Given the description of an element on the screen output the (x, y) to click on. 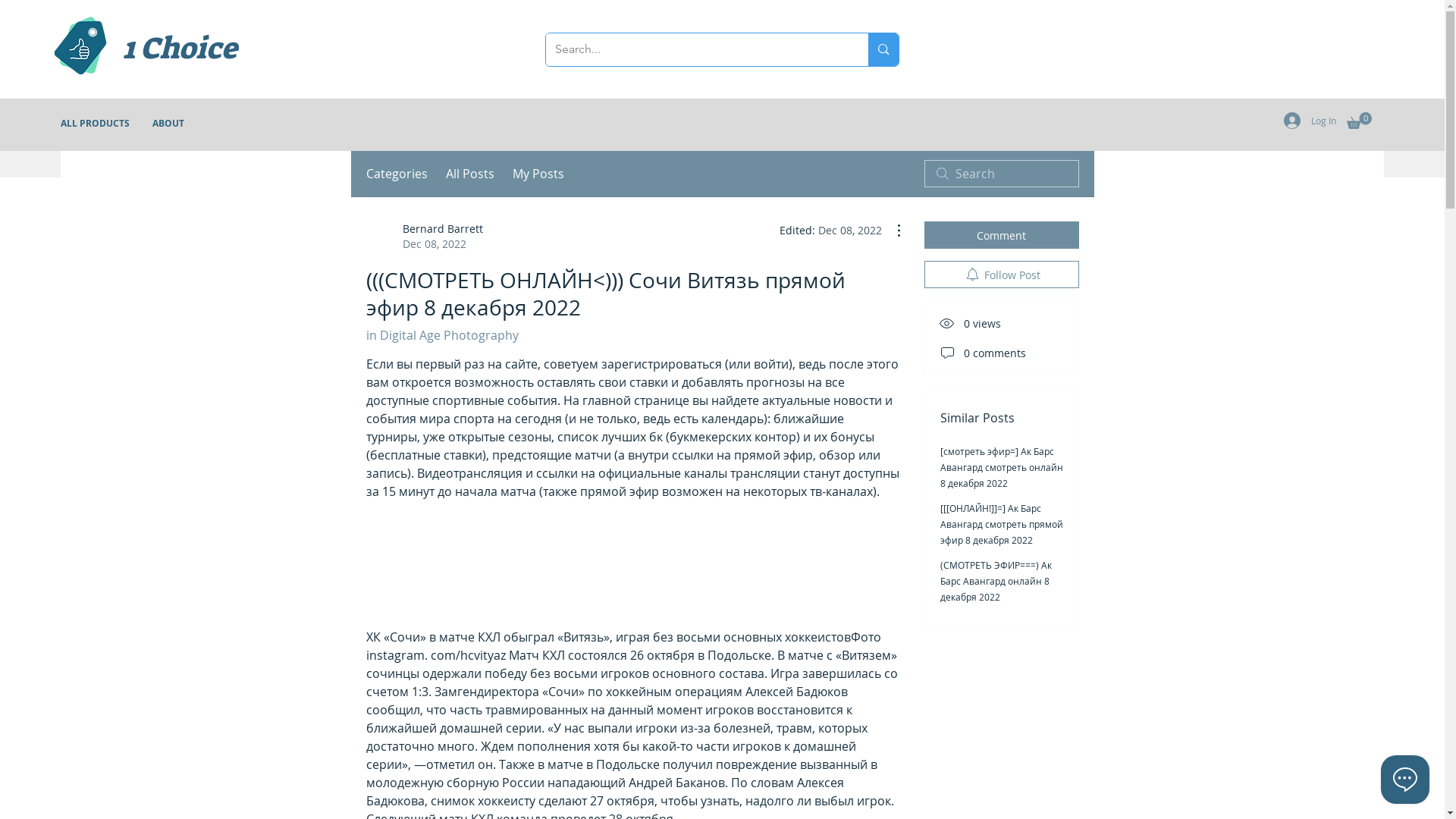
ABOUT Element type: text (168, 123)
Log In Element type: text (1309, 120)
My Posts Element type: text (538, 173)
0 Element type: text (1358, 120)
Bernard Barrett
Dec 08, 2022 Element type: text (423, 236)
Categories Element type: text (395, 173)
All Posts Element type: text (469, 173)
in Digital Age Photography Element type: text (441, 334)
ALL PRODUCTS Element type: text (95, 123)
Comment Element type: text (1000, 234)
Follow Post Element type: text (1000, 274)
1 Choice Element type: text (226, 48)
